Given the description of an element on the screen output the (x, y) to click on. 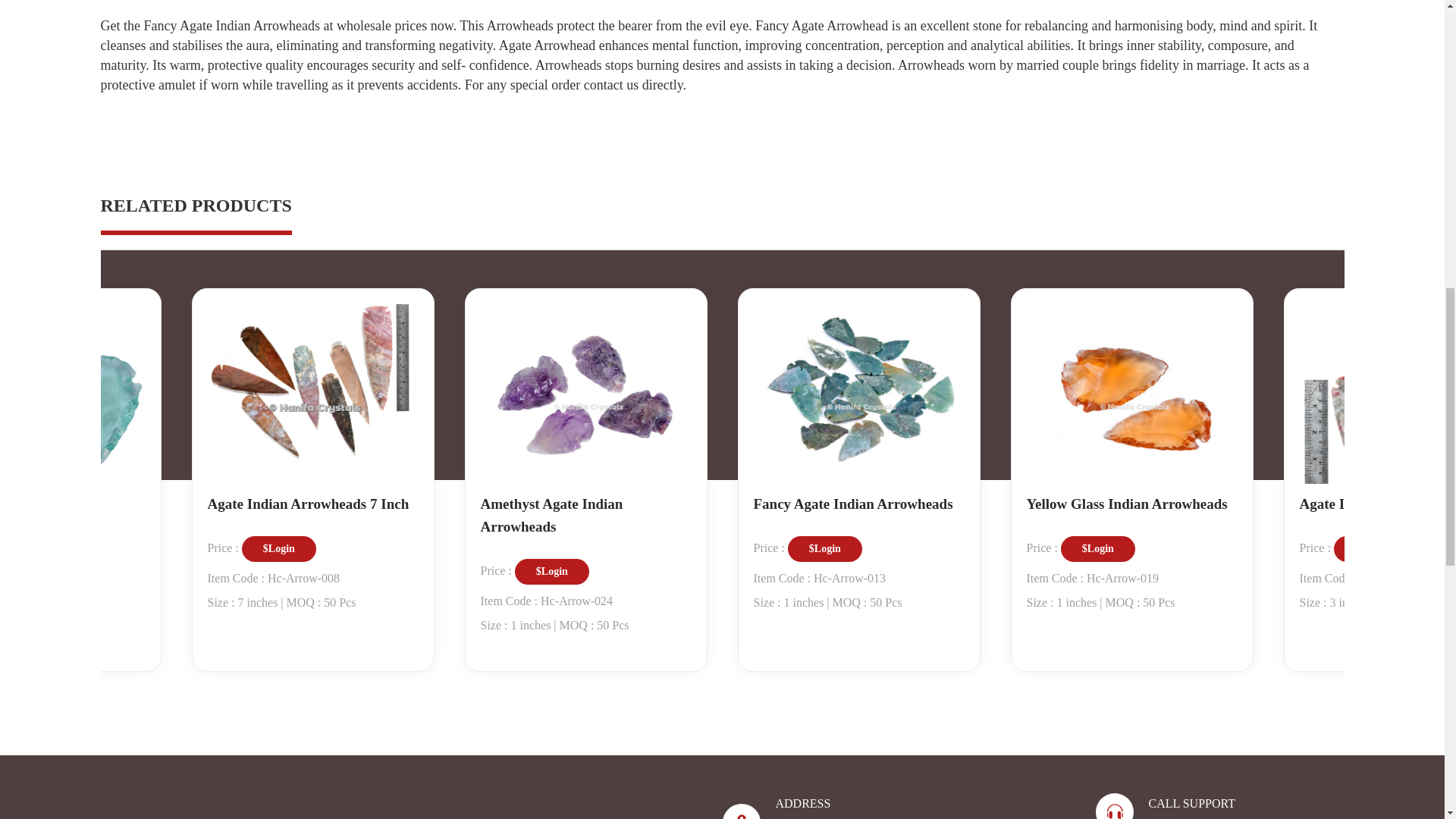
Fancy Agate Indian Arrowheads (853, 499)
Yellow Glass Indian Arrowheads (1126, 499)
Agate Indian Arrowheads 7 Inch (308, 499)
Amethyst Agate Indian Arrowheads (585, 511)
Aqua Marine Glass Indian Arrowheads (72, 511)
